Given the description of an element on the screen output the (x, y) to click on. 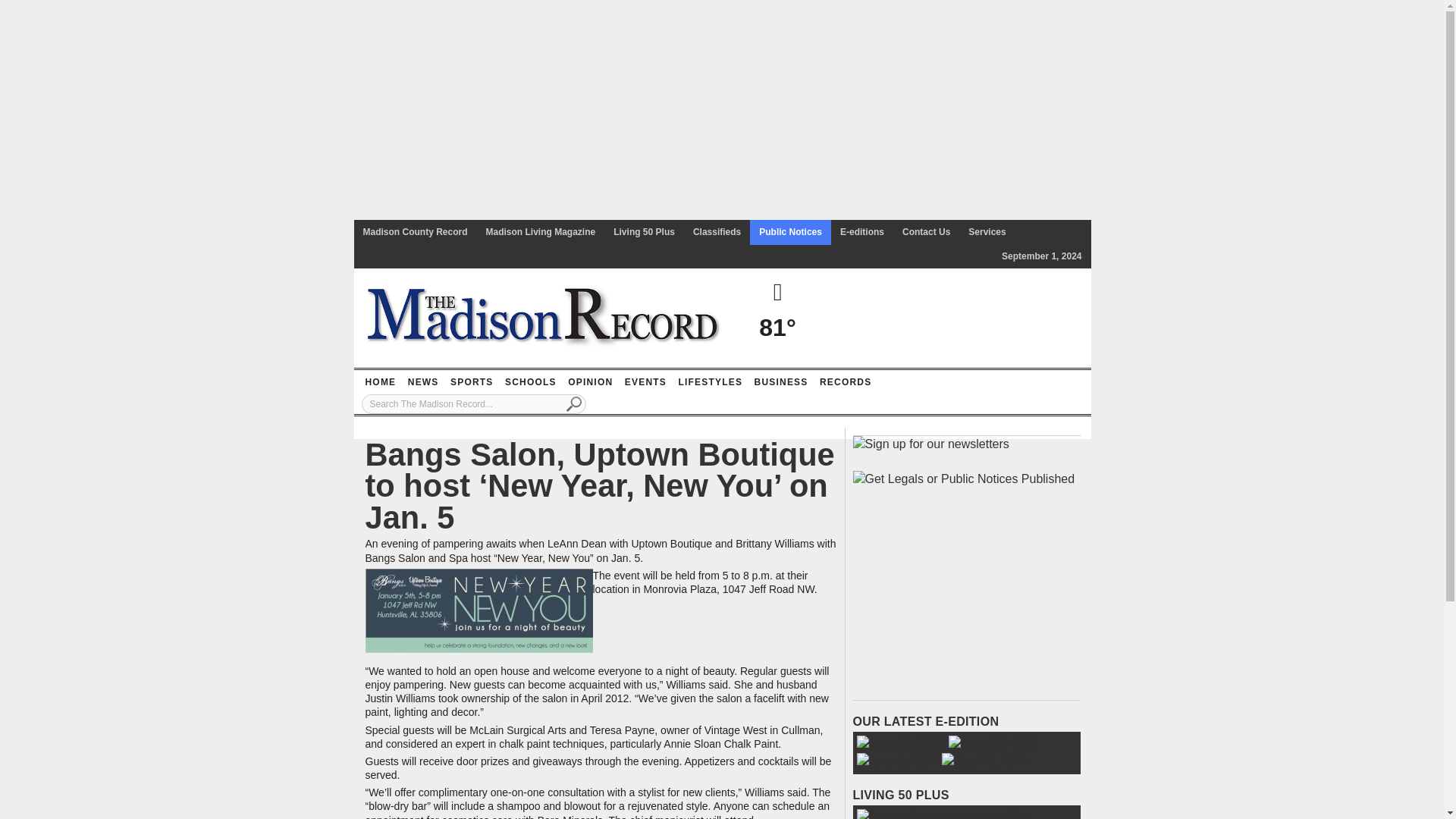
SCHOOLS (530, 381)
Sign up for our newsletters (930, 443)
Go (574, 403)
Go (574, 403)
HOME (379, 381)
EVENTS (645, 381)
Living 50 Plus (644, 232)
Classifieds (716, 232)
Contact Us (926, 232)
